Given the description of an element on the screen output the (x, y) to click on. 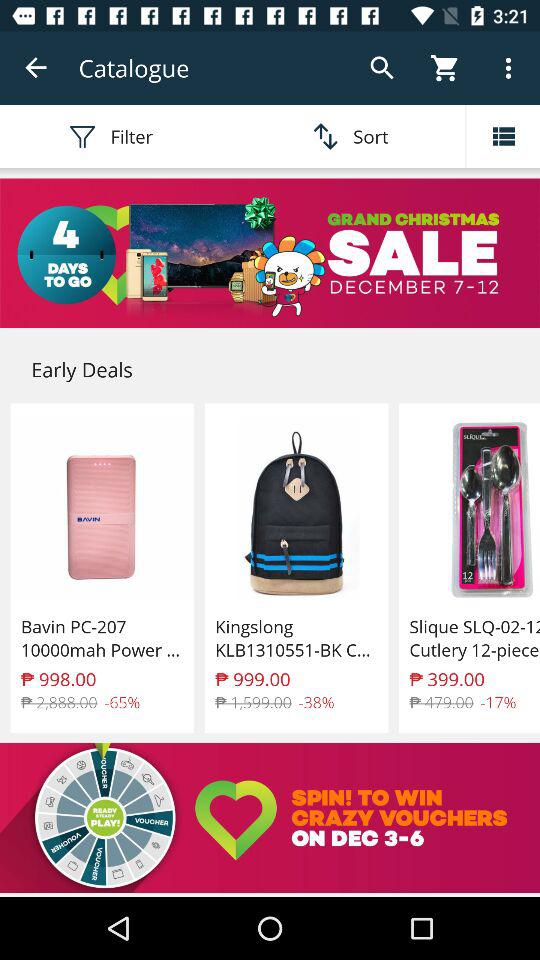
click on the option add to cart on the top (445, 68)
click on search button (381, 68)
select the sort option (348, 136)
